Given the description of an element on the screen output the (x, y) to click on. 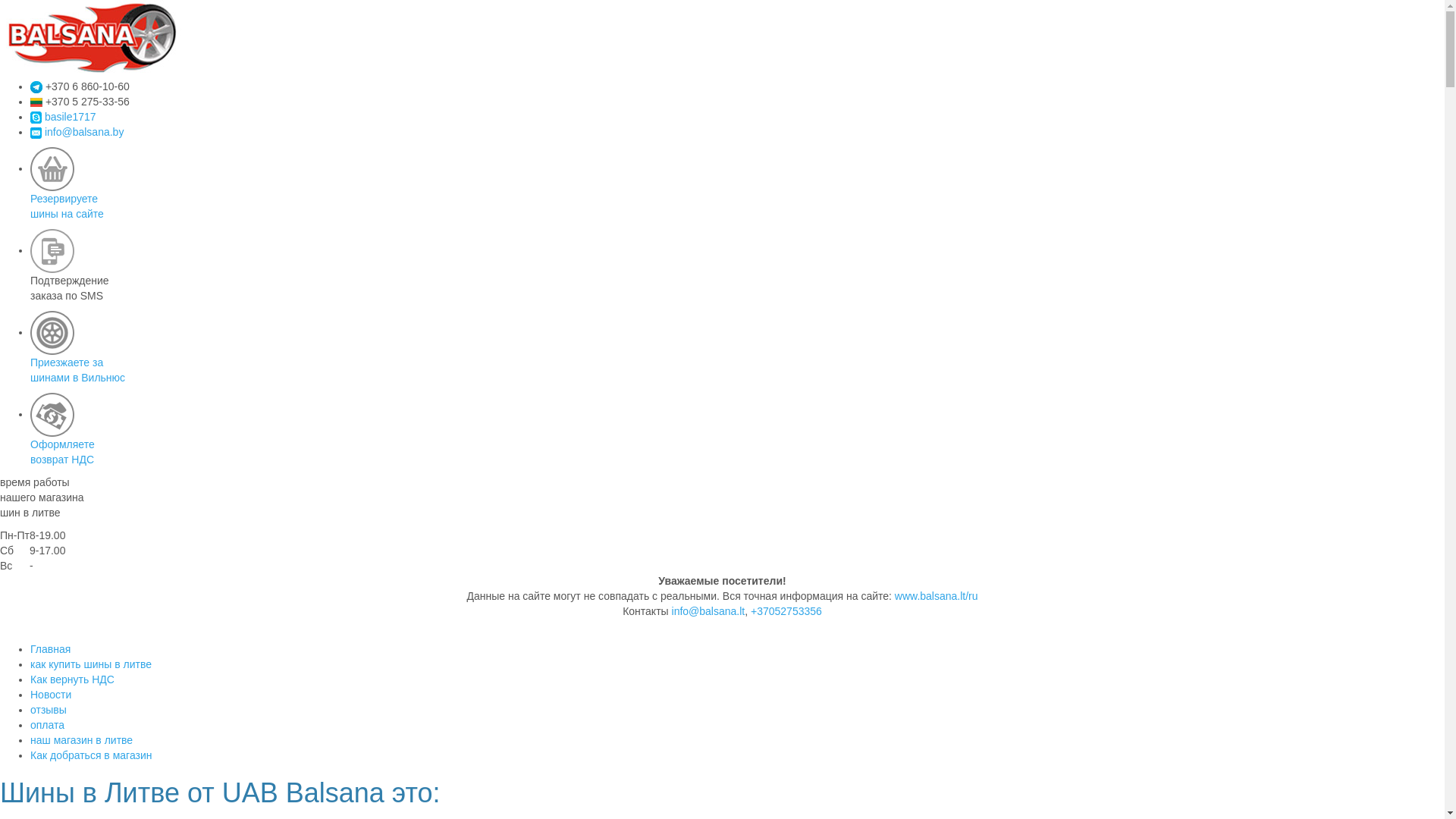
info@balsana.by Element type: hover (35, 132)
info@balsana.by Element type: text (84, 131)
www.balsana.lt/ru Element type: text (936, 595)
info@balsana.lt Element type: text (708, 611)
+370 5 275-33-56 Element type: hover (36, 101)
+37052753356 Element type: text (786, 611)
basile1717 Element type: hover (35, 117)
+370 6 860-10-60 Element type: hover (36, 87)
basile1717 Element type: text (70, 116)
